Given the description of an element on the screen output the (x, y) to click on. 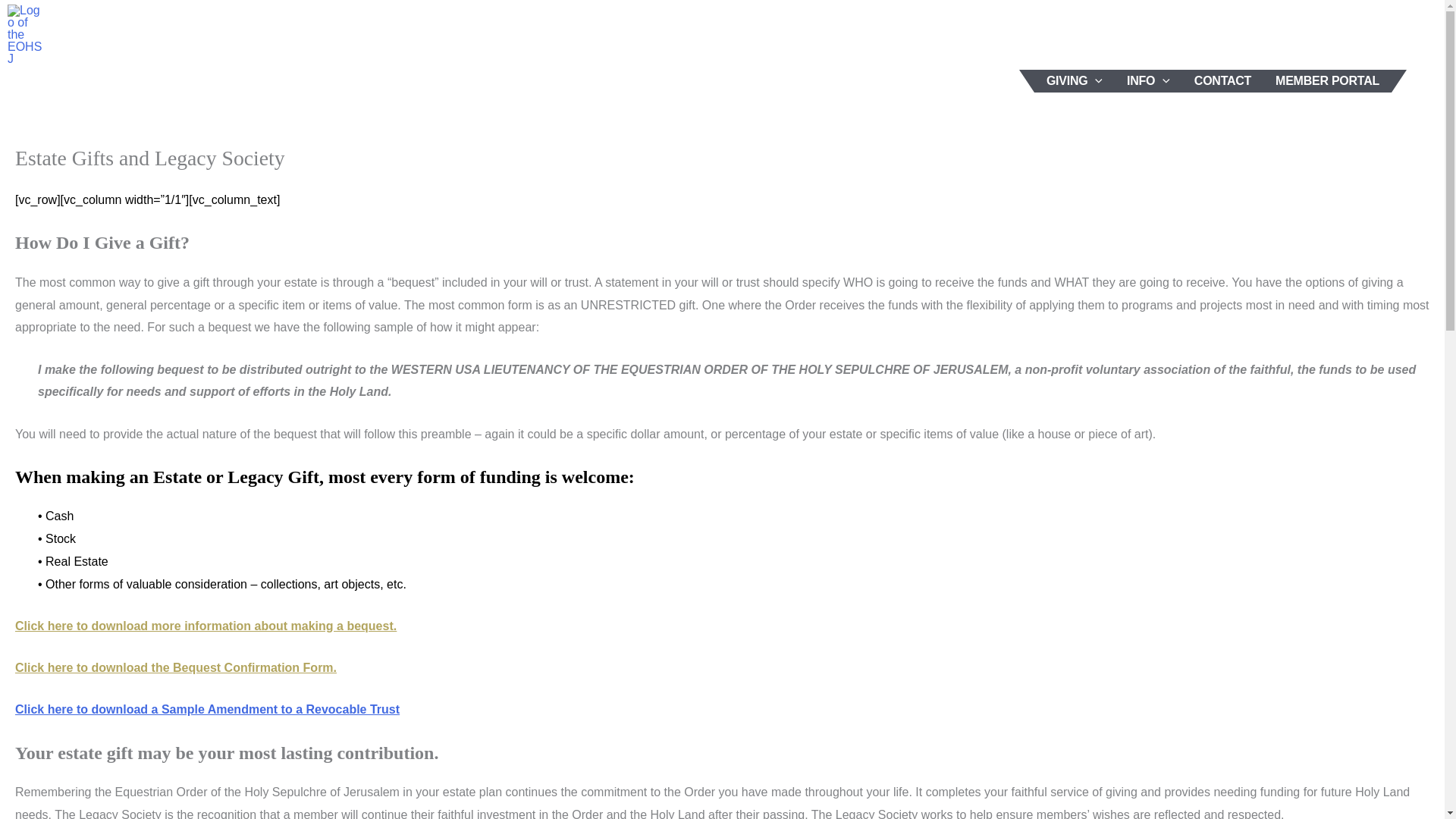
SPIRITUALITY (979, 34)
WESTERN USA LIEUTENANCY (807, 34)
THE ORDER (643, 34)
